Given the description of an element on the screen output the (x, y) to click on. 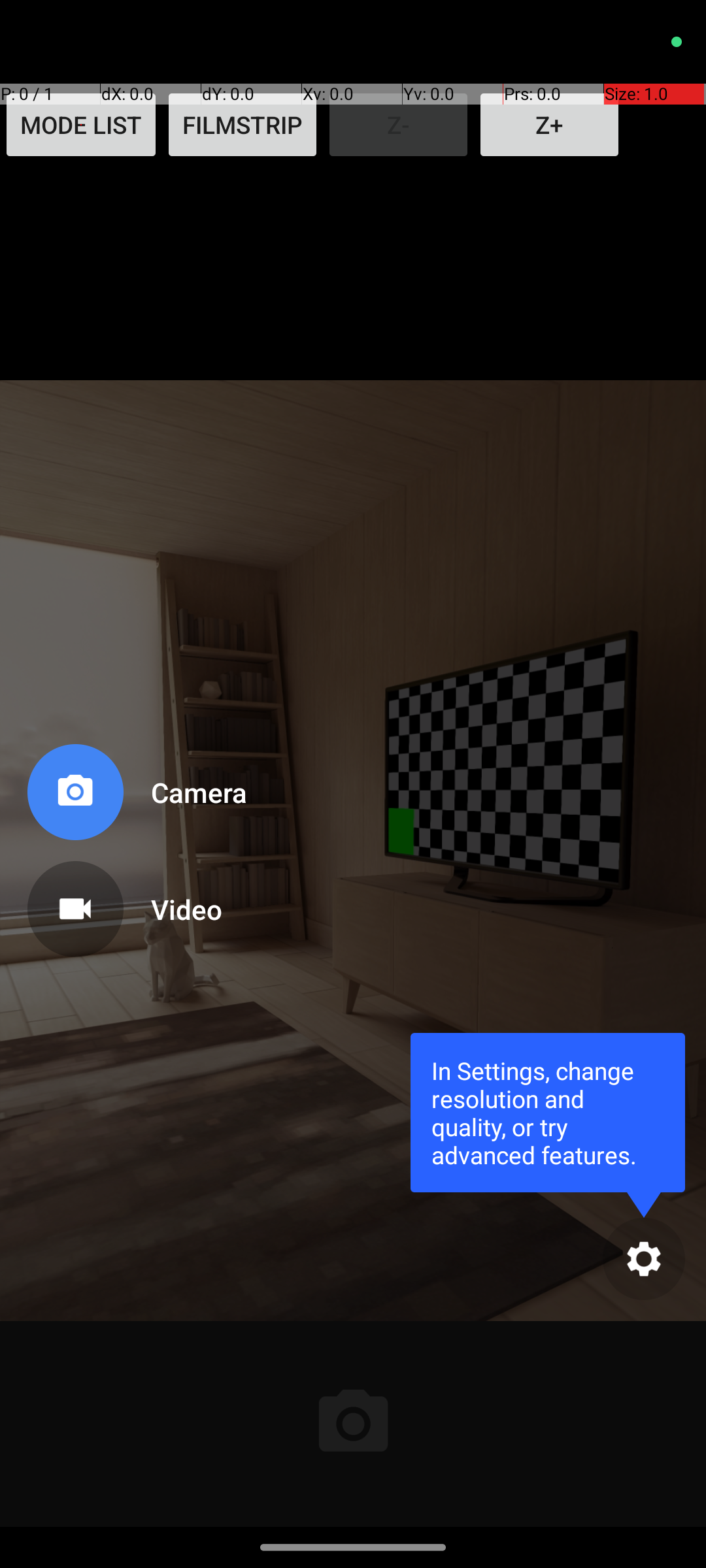
Switch to Camera Mode Element type: android.widget.FrameLayout (134, 797)
Switch to Video Camera Element type: android.widget.FrameLayout (134, 903)
In Settings, change resolution and quality, or try advanced features. Element type: android.widget.TextView (547, 1112)
